Given the description of an element on the screen output the (x, y) to click on. 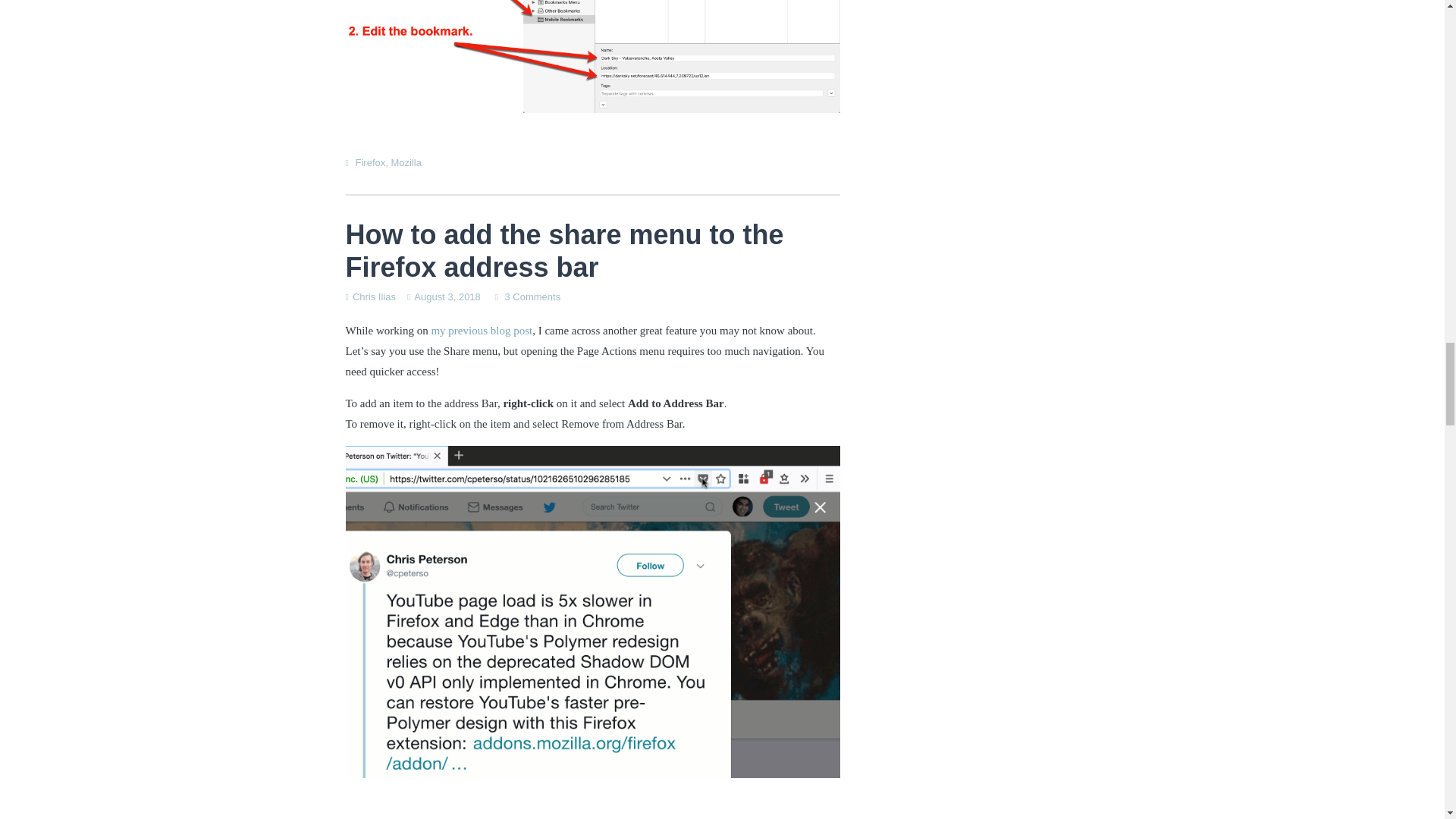
Chris Ilias (374, 296)
3 Comments (531, 296)
How to add the share menu to the Firefox address bar (565, 250)
my previous blog post (481, 330)
August 3, 2018 (446, 296)
Firefox (370, 162)
Mozilla (405, 162)
